Given the description of an element on the screen output the (x, y) to click on. 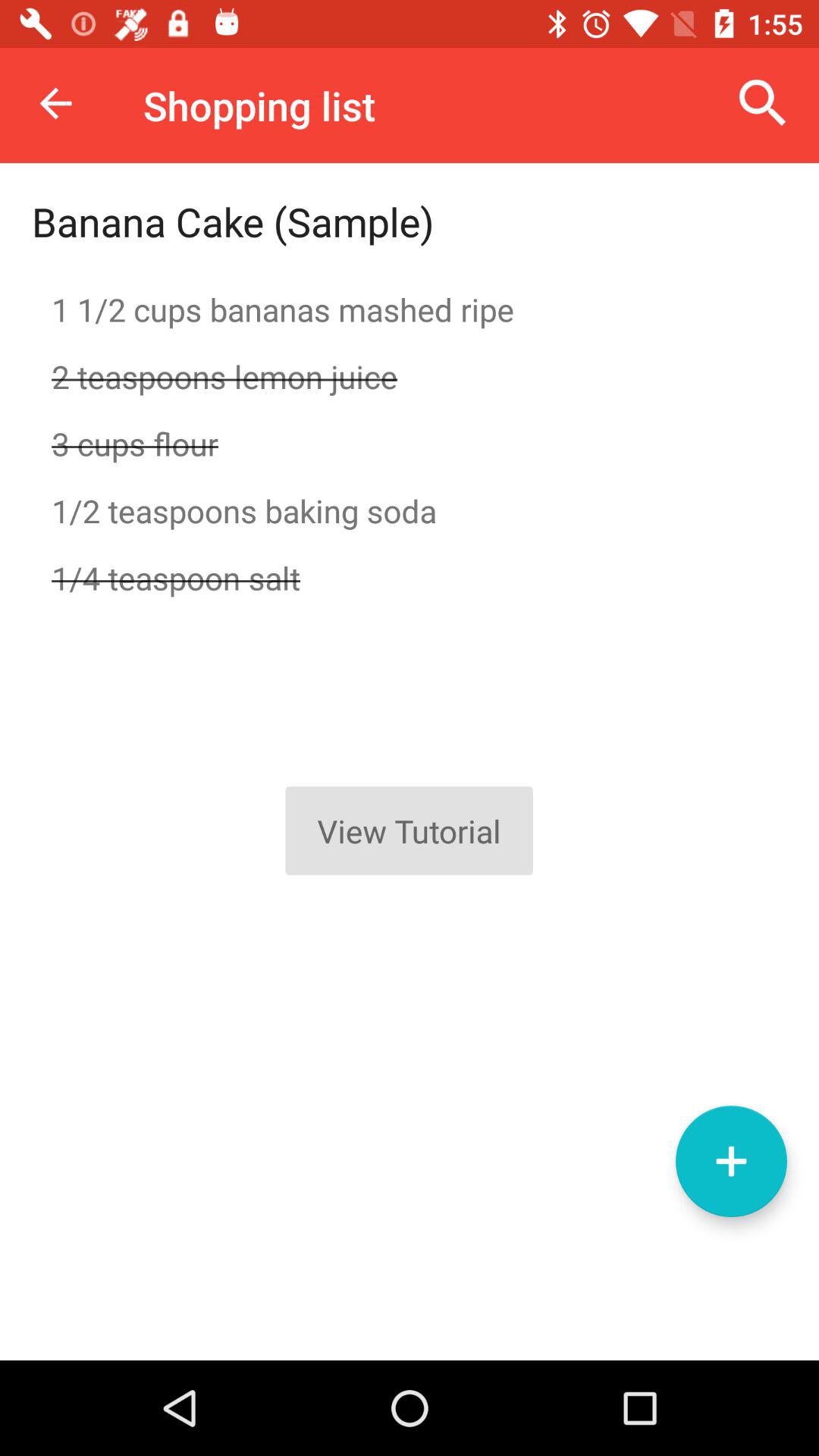
jump until banana cake (sample) item (232, 221)
